Given the description of an element on the screen output the (x, y) to click on. 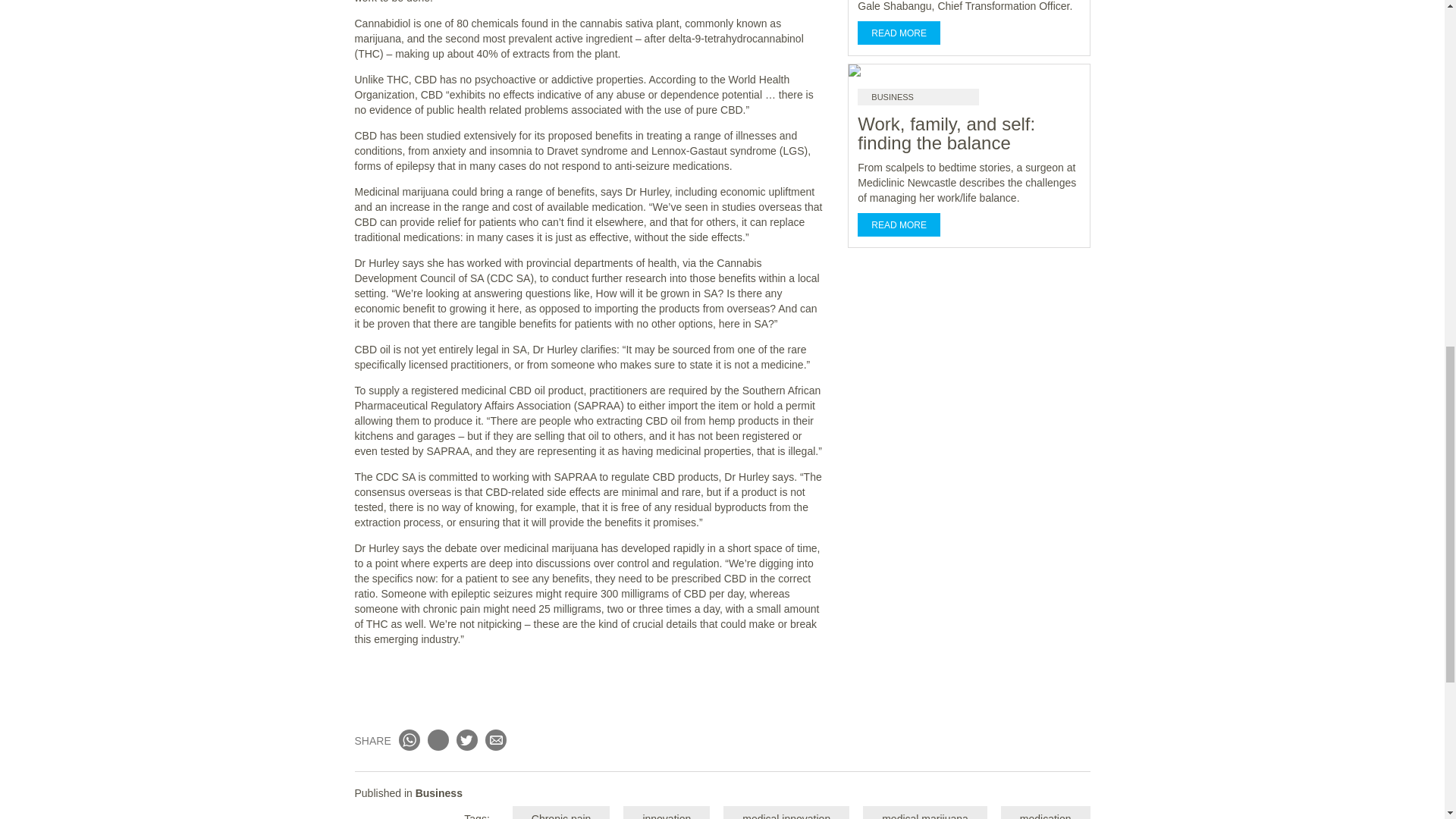
READ MORE (898, 224)
Business (438, 793)
READ MORE (898, 33)
innovation (666, 812)
Chronic pain (561, 812)
BUSINESS (917, 96)
